Given the description of an element on the screen output the (x, y) to click on. 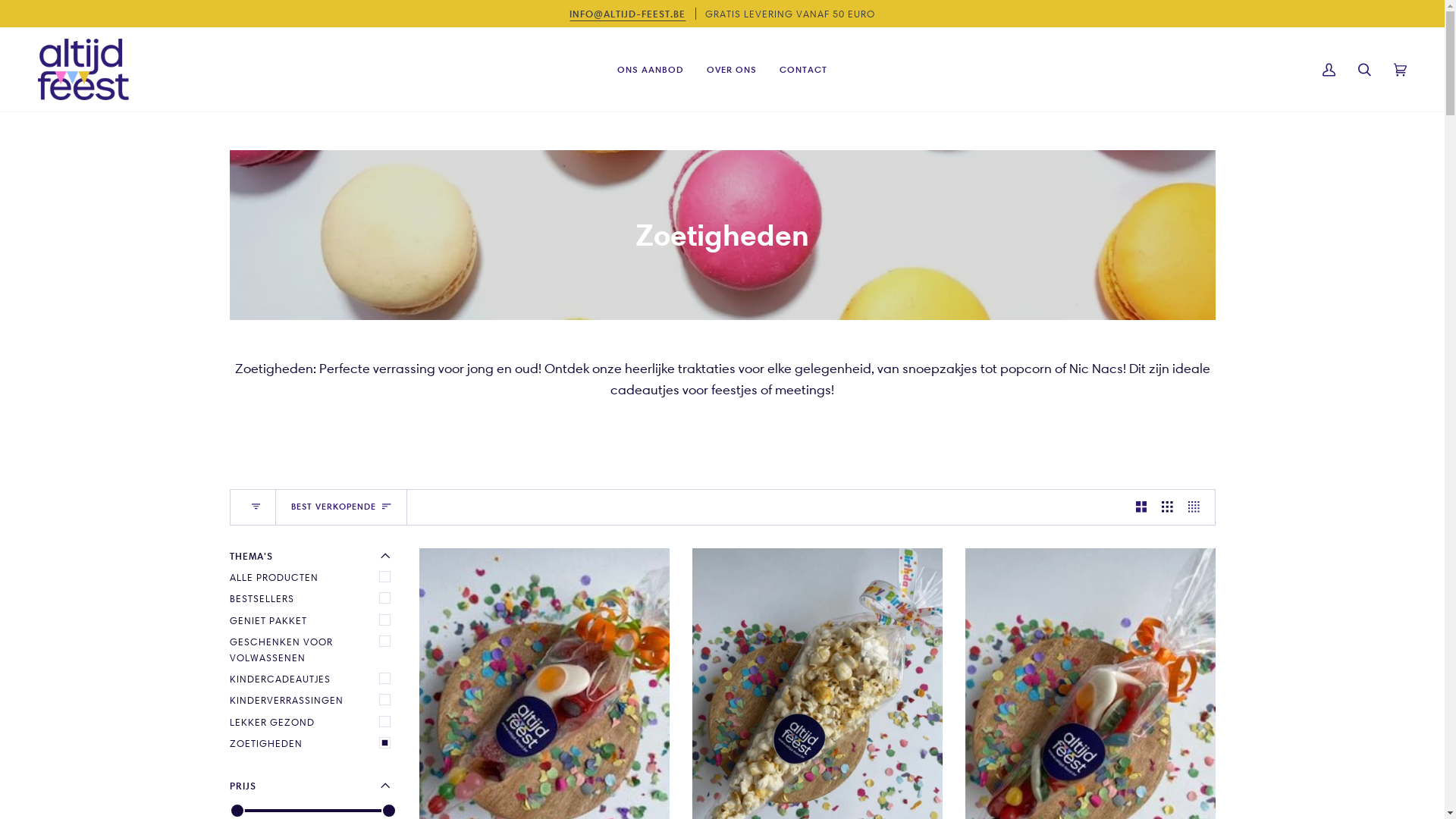
ZOETIGHEDEN Element type: text (312, 742)
MIJN ACCOUNT Element type: text (1328, 69)
GESCHENKEN VOOR VOLWASSENEN Element type: text (312, 649)
KINDERCADEAUTJES Element type: text (312, 678)
GENIET PAKKET Element type: text (312, 619)
ONS AANBOD Element type: text (650, 69)
PRIJS
MENU UITBREIDEN
MENU VERBERGEN Element type: text (312, 785)
OVER ONS Element type: text (731, 69)
KINDERVERRASSINGEN Element type: text (312, 699)
CONTACT Element type: text (803, 69)
INFO@ALTIJD-FEEST.BE Element type: text (627, 13)
ZOEKEN Element type: text (1364, 69)
LEKKER GEZOND Element type: text (312, 721)
THEMA'S
MENU UITBREIDEN
MENU VERBERGEN Element type: text (312, 555)
ALLE PRODUCTEN Element type: text (312, 576)
BESTSELLERS Element type: text (312, 597)
BEST VERKOPENDE Element type: text (341, 506)
WINKELMANDJE
(0) Element type: text (1400, 69)
